Given the description of an element on the screen output the (x, y) to click on. 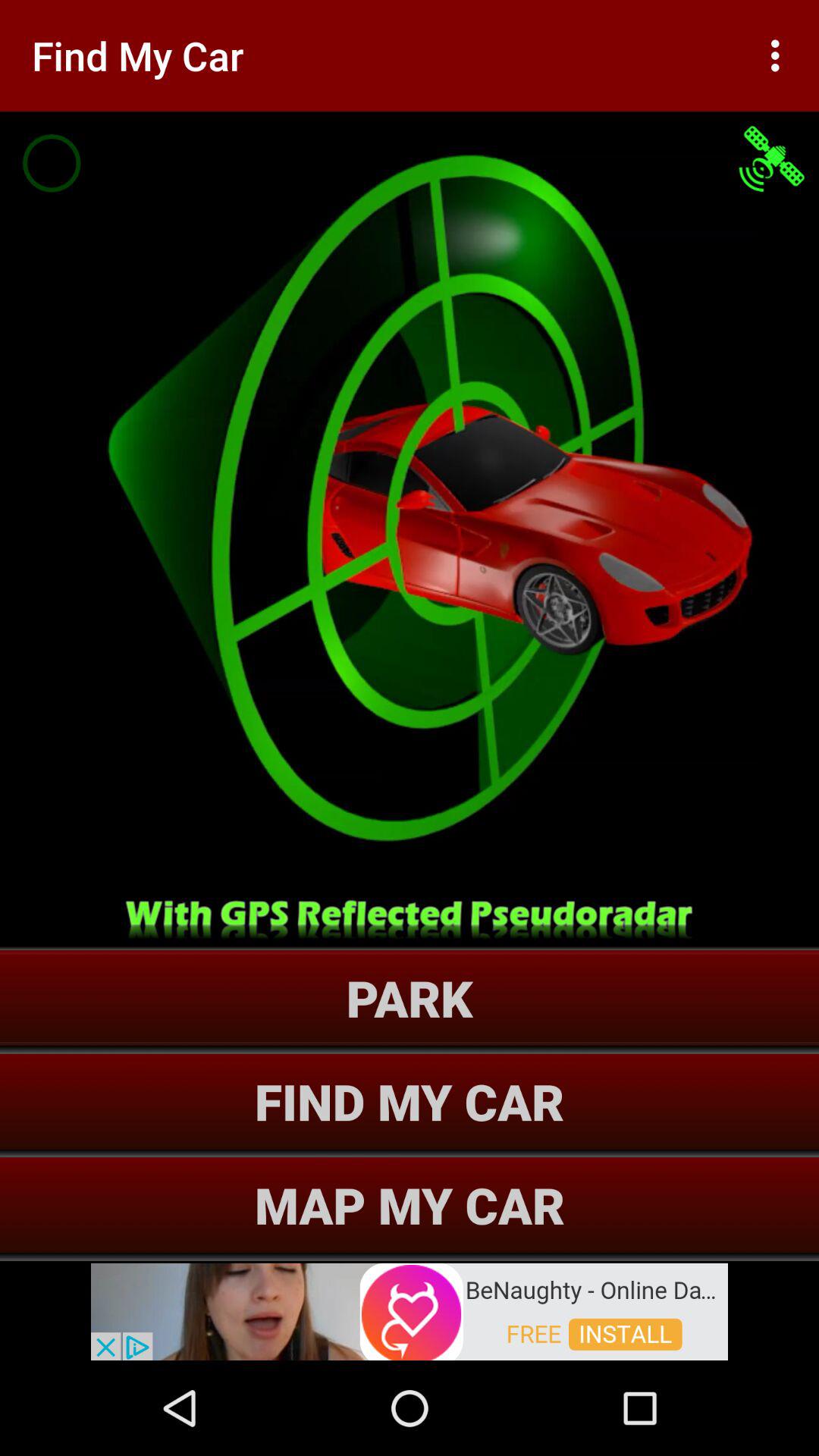
advisement (409, 1310)
